Given the description of an element on the screen output the (x, y) to click on. 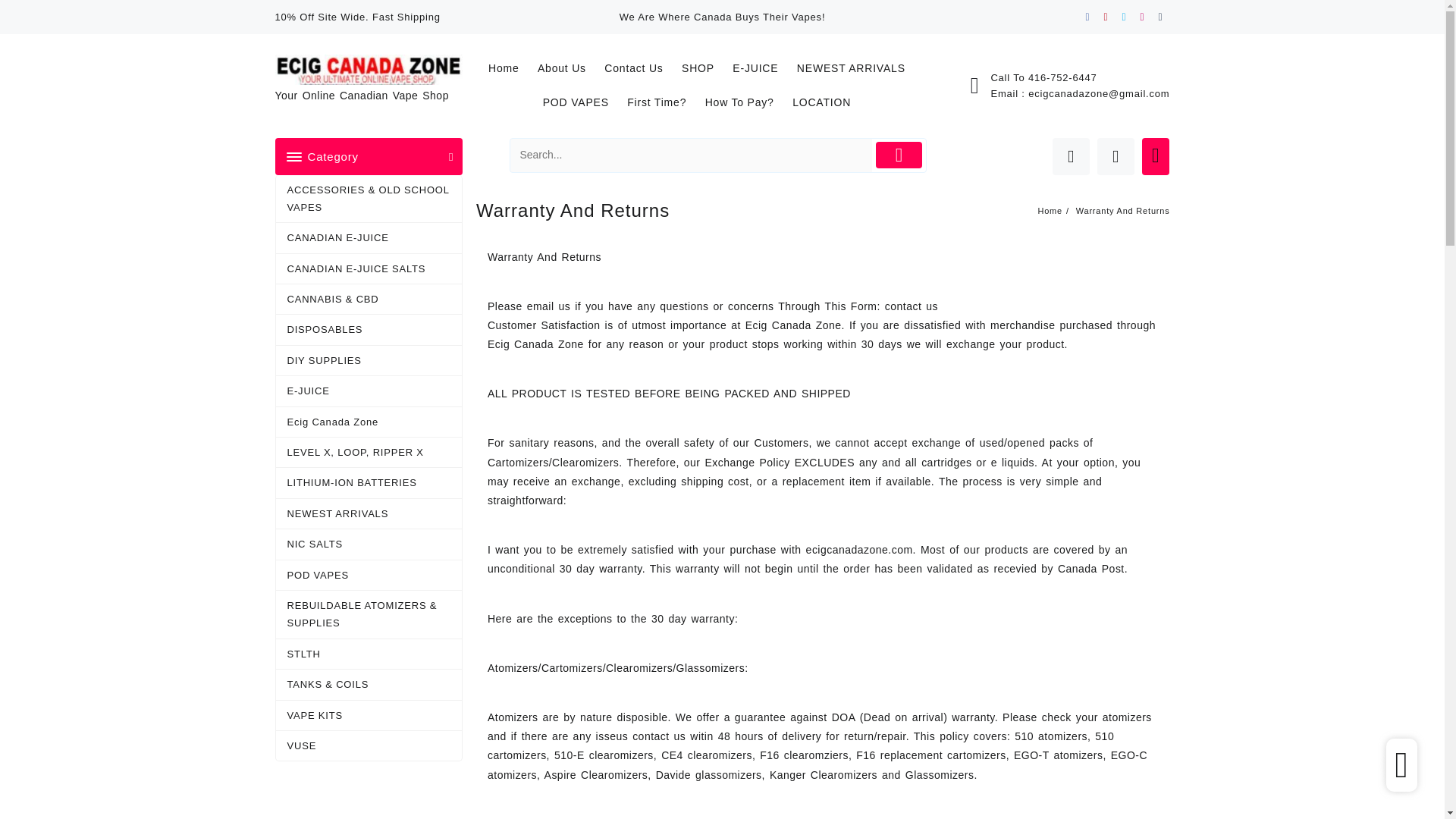
First Time? (664, 102)
Home (510, 68)
About Us (569, 68)
Posts tagged with simple (1061, 481)
SHOP (705, 68)
How To Pay? (746, 102)
E-JUICE (762, 68)
NEWEST ARRIVALS (858, 68)
POD VAPES (583, 102)
Contact Us (641, 68)
Search (691, 155)
LOCATION (829, 102)
